Given the description of an element on the screen output the (x, y) to click on. 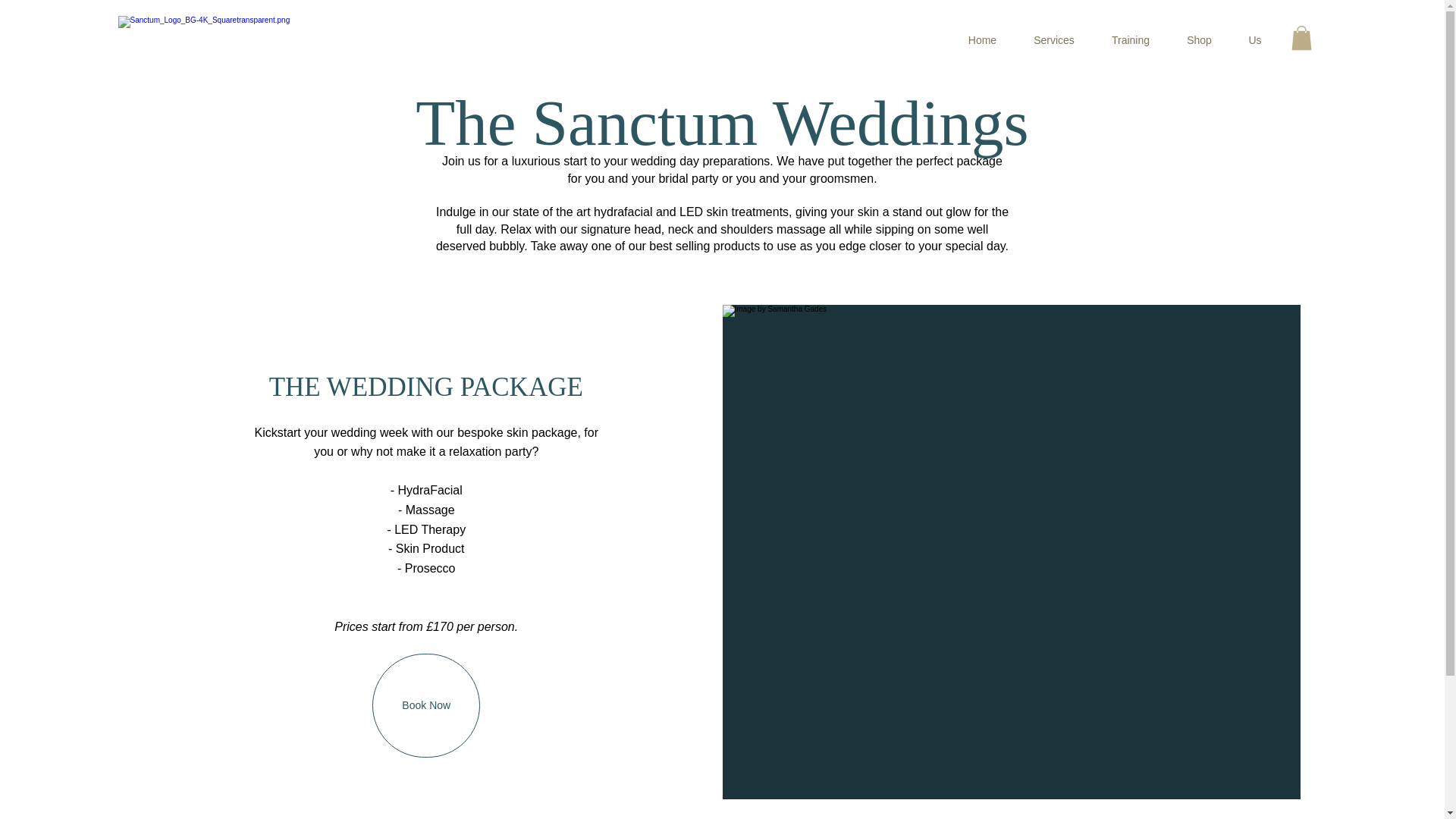
Book Now (426, 705)
Home (981, 40)
Training (1131, 40)
Us (1254, 40)
Services (1053, 40)
Shop (1198, 40)
